Given the description of an element on the screen output the (x, y) to click on. 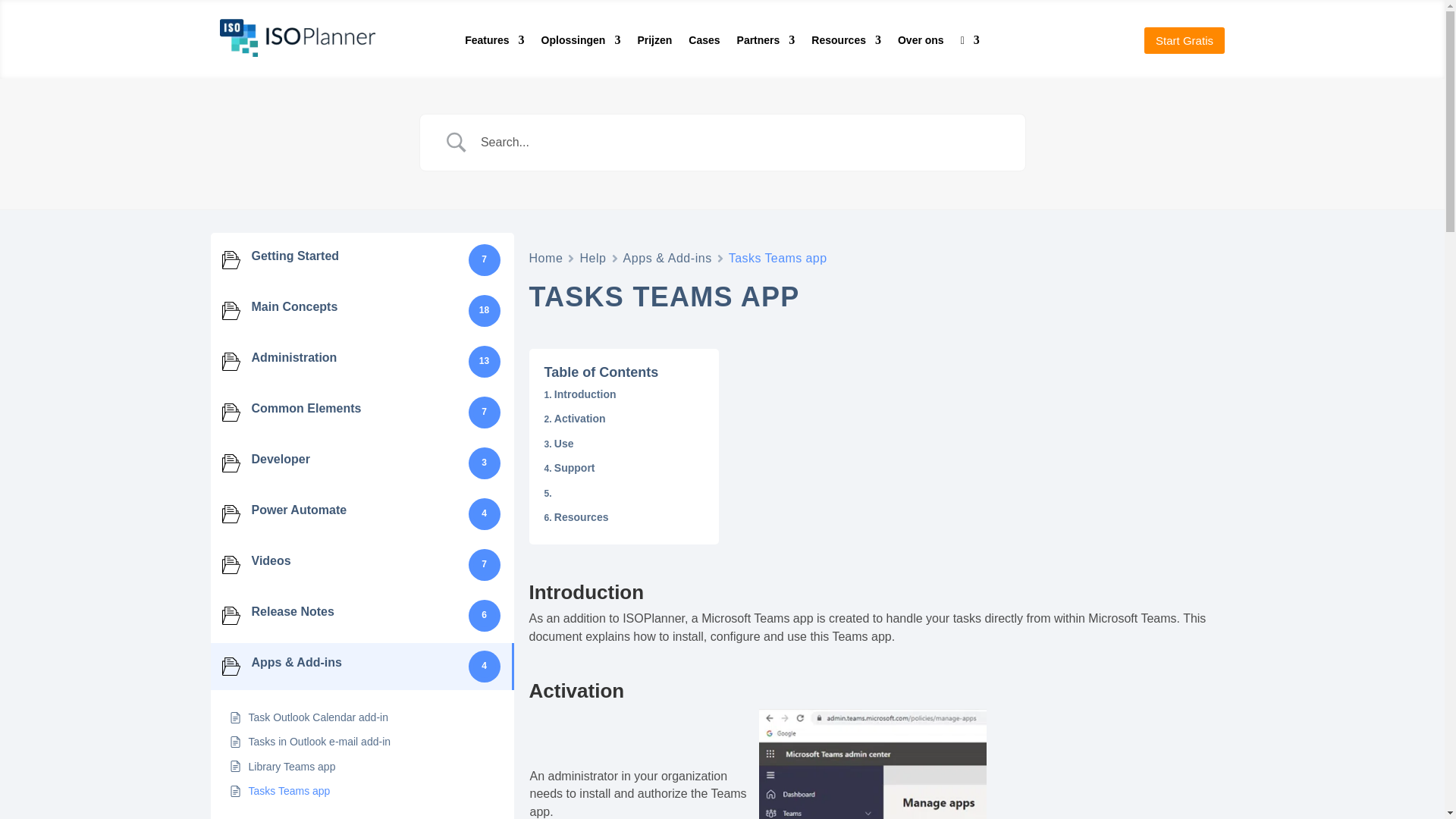
ISOPlanner-logo (297, 52)
Over ons (920, 43)
Home (546, 258)
Resources (845, 43)
Oplossingen (581, 43)
Partners (765, 43)
Cases (703, 43)
Help (592, 258)
Features (494, 43)
Prijzen (654, 43)
